Given the description of an element on the screen output the (x, y) to click on. 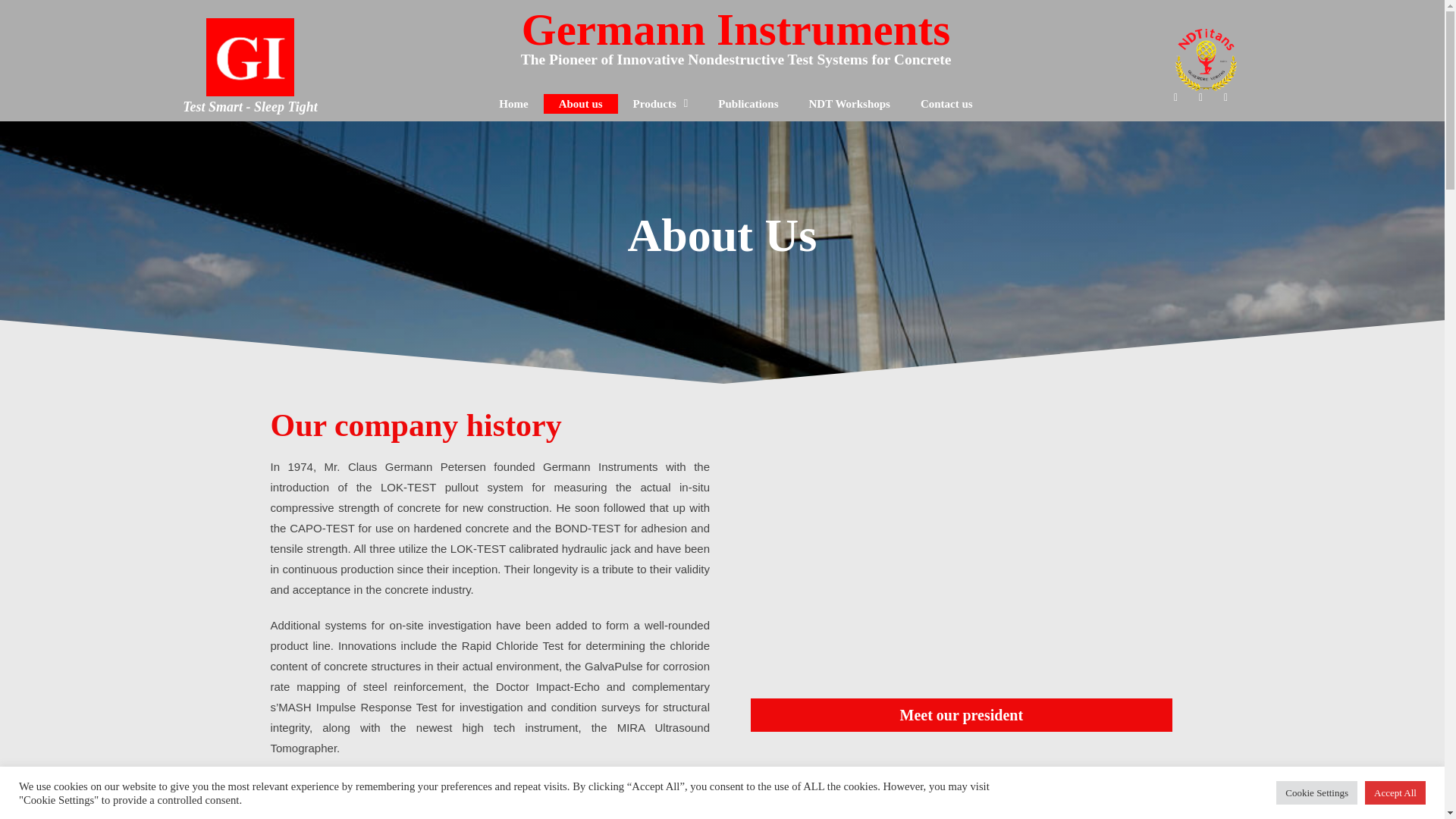
About us (580, 103)
NDT Workshops (848, 103)
Publications (748, 103)
Contact us (946, 103)
Products (660, 103)
Home (513, 103)
